Given the description of an element on the screen output the (x, y) to click on. 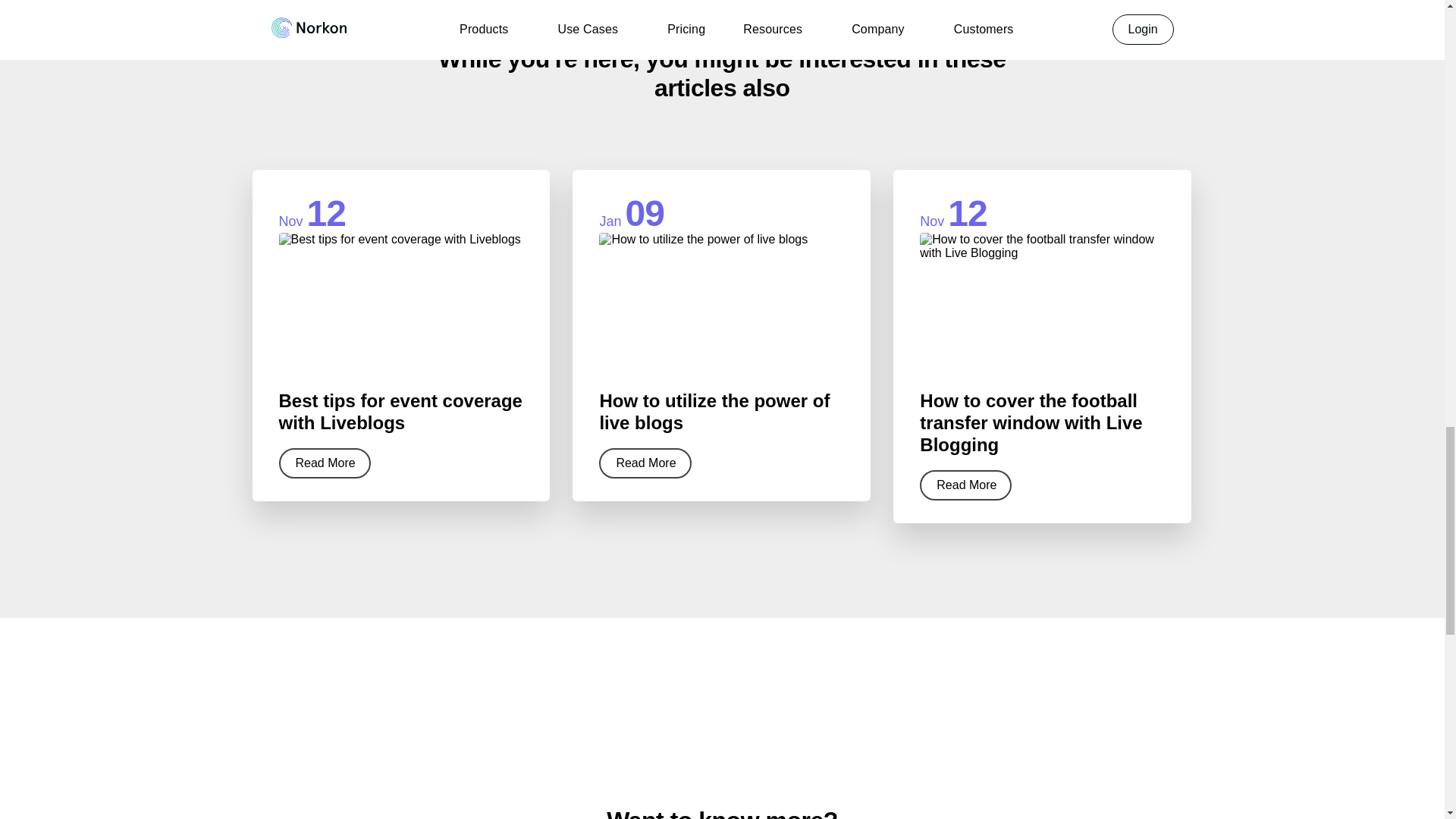
Read More (325, 462)
Read More (965, 485)
Read More (644, 462)
